Given the description of an element on the screen output the (x, y) to click on. 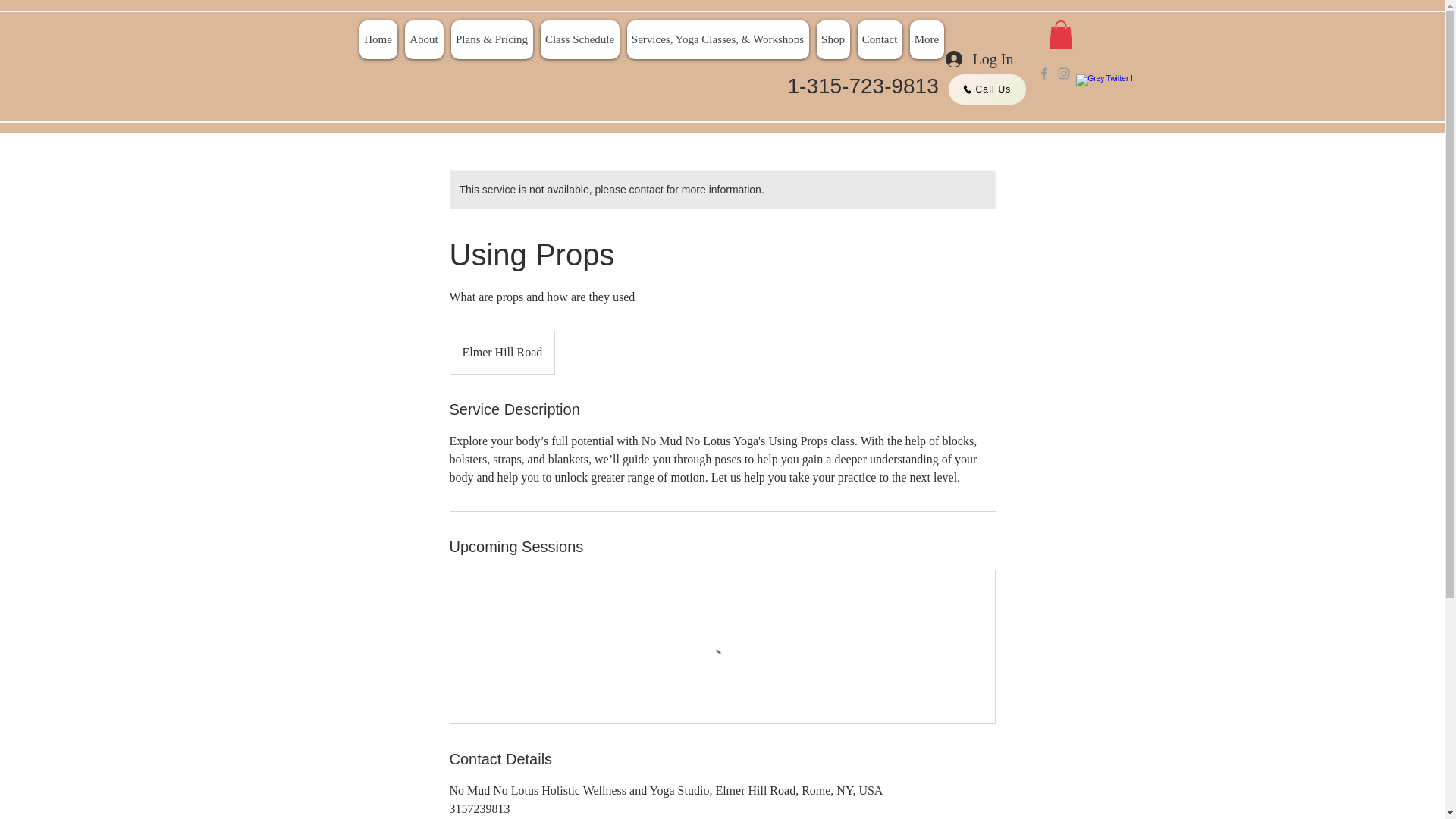
Contact (879, 39)
About (424, 39)
Class Schedule (579, 39)
Call Us (986, 89)
Home (378, 39)
Log In (979, 59)
